Given the description of an element on the screen output the (x, y) to click on. 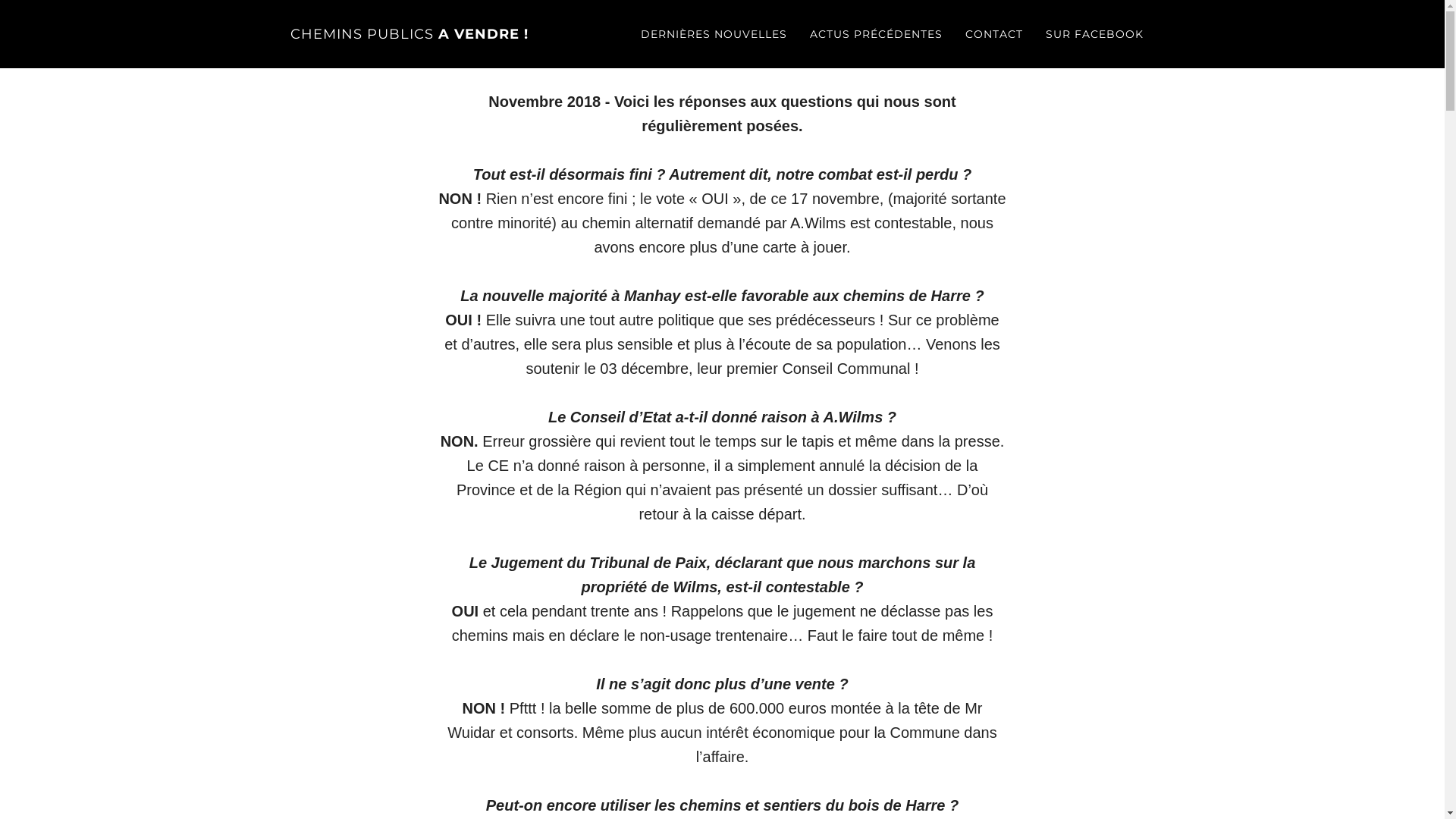
CONTACT Element type: text (993, 34)
SUR FACEBOOK Element type: text (1094, 34)
CHEMINS PUBLICS A VENDRE ! Element type: text (409, 34)
